Given the description of an element on the screen output the (x, y) to click on. 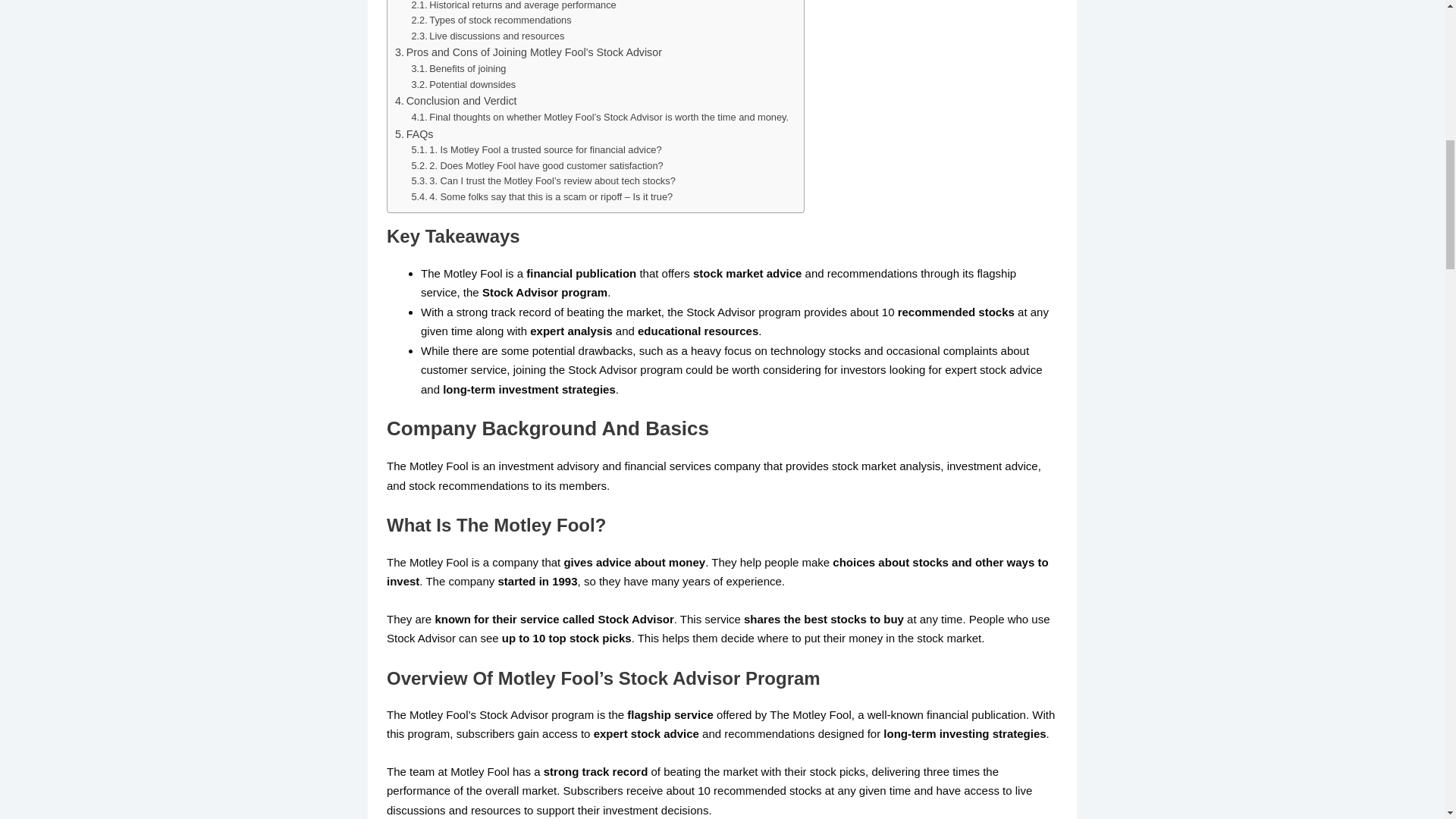
Live discussions and resources (487, 36)
Historical returns and average performance (512, 6)
Conclusion and Verdict (455, 100)
Live discussions and resources (487, 36)
1. Is Motley Fool a trusted source for financial advice? (535, 150)
2. Does Motley Fool have good customer satisfaction? (536, 166)
Potential downsides (462, 84)
Historical returns and average performance (512, 6)
Benefits of joining (457, 68)
FAQs (413, 134)
